Given the description of an element on the screen output the (x, y) to click on. 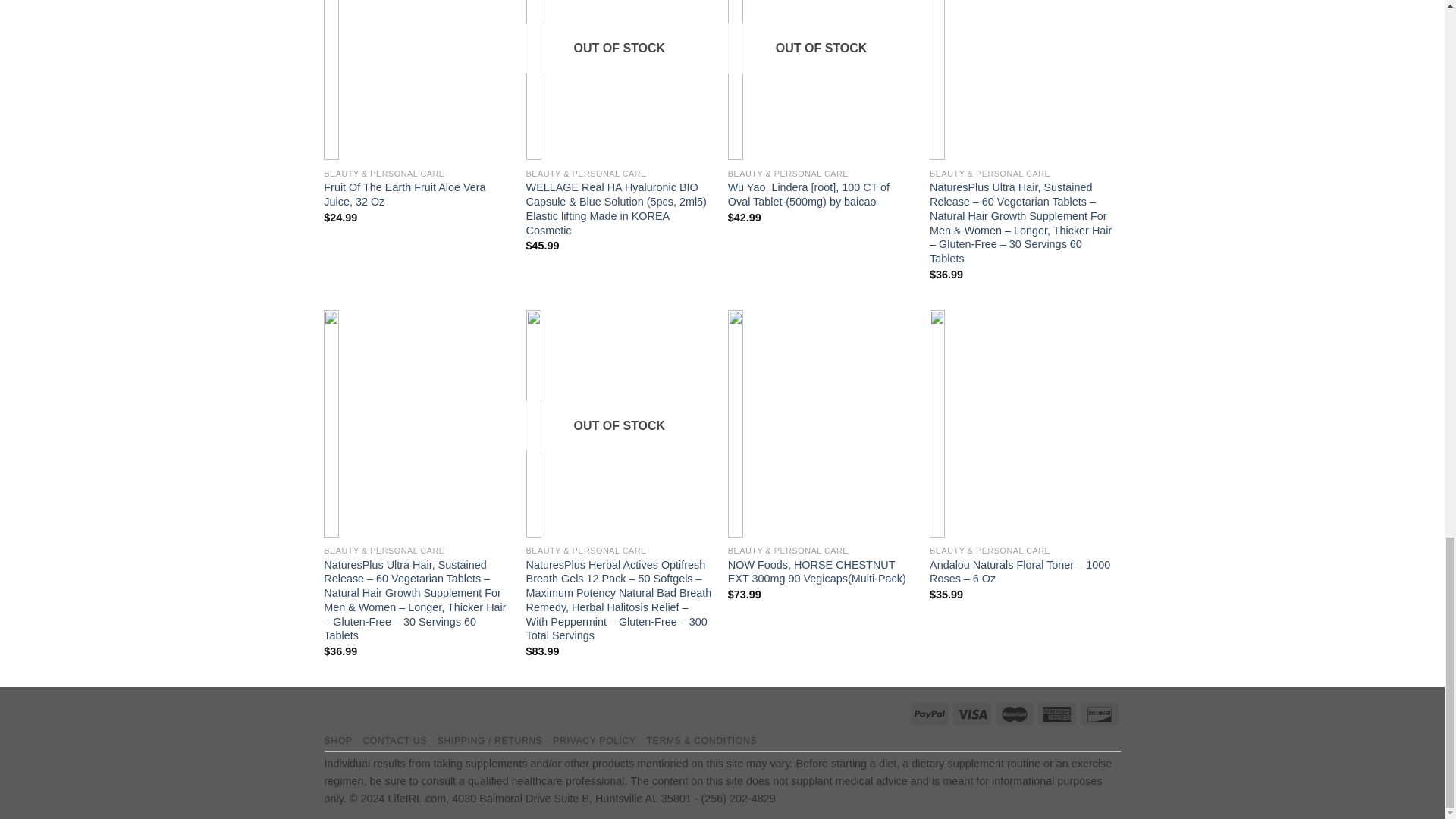
Fruit Of The Earth Fruit Aloe Vera Juice, 32 Oz (417, 194)
